Given the description of an element on the screen output the (x, y) to click on. 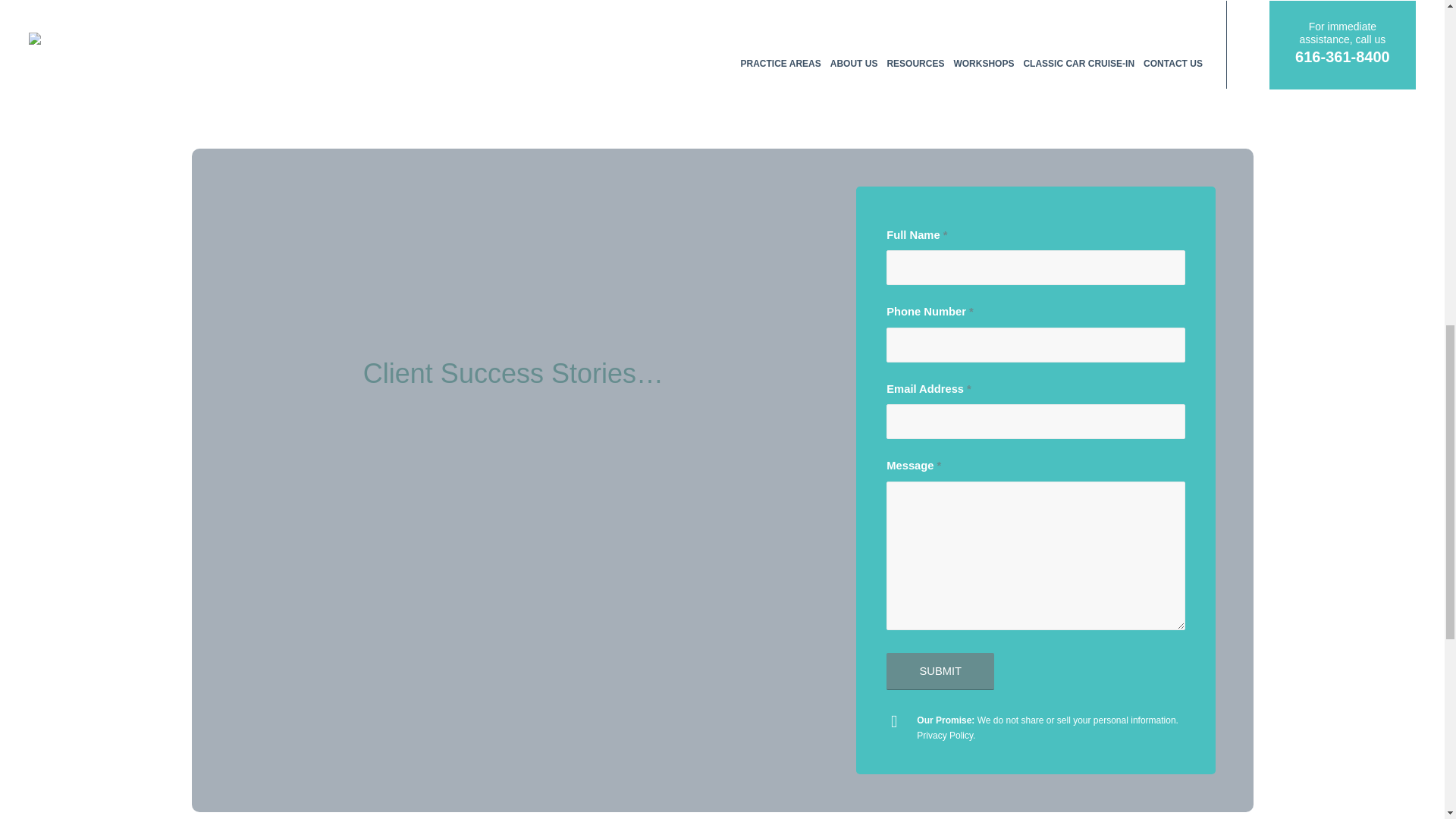
SUBMIT (940, 671)
